Given the description of an element on the screen output the (x, y) to click on. 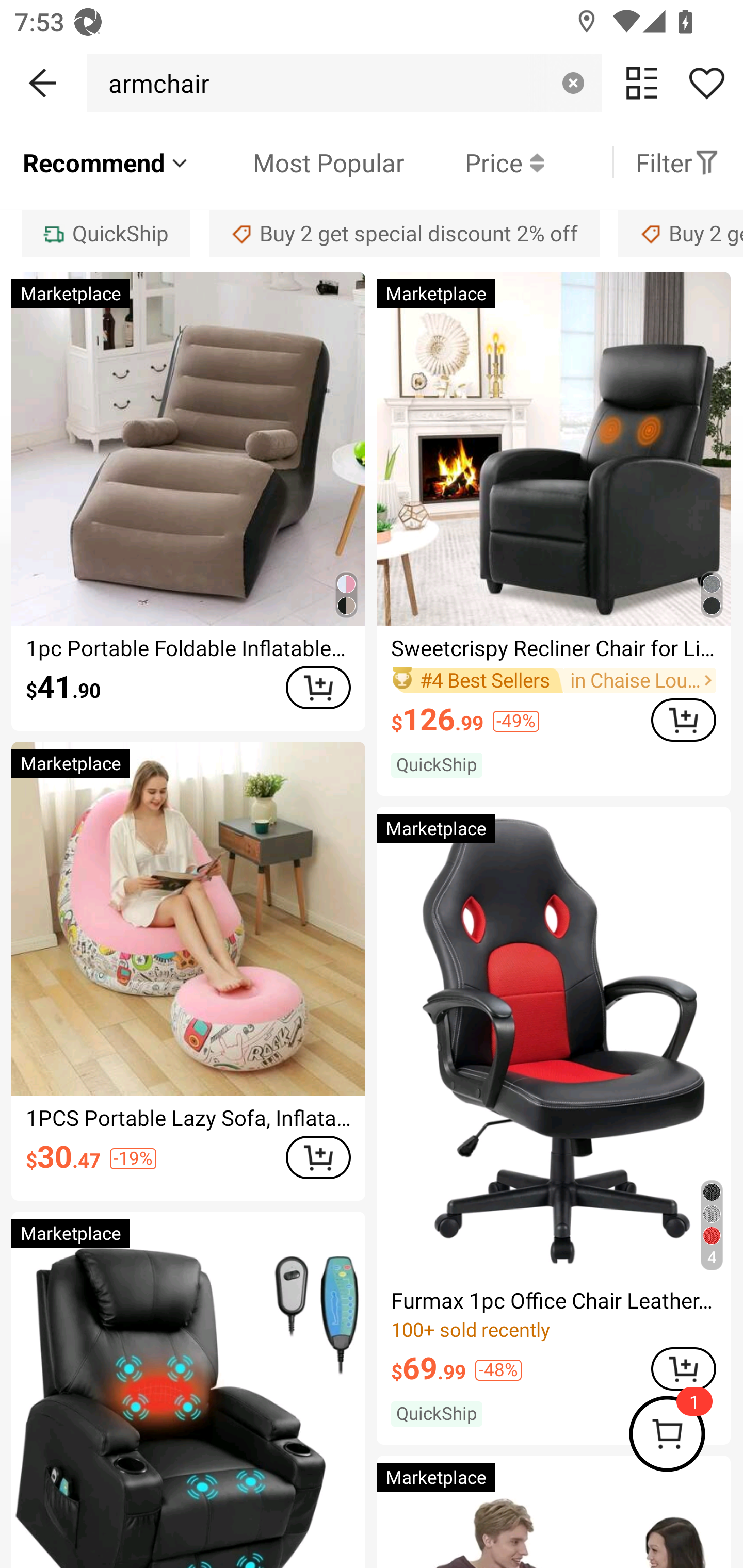
armchair (153, 82)
Clear (572, 82)
change view (641, 82)
Share (706, 82)
Recommend (106, 162)
Most Popular (297, 162)
Price (474, 162)
Filter (677, 162)
QuickShip (105, 233)
Buy 2 get special discount 2% off (403, 233)
Buy 2 get special discount 3% off (680, 233)
ADD TO CART (318, 687)
#4 Best Sellers in Chaise Lounges (553, 680)
ADD TO CART (683, 719)
ADD TO CART (318, 1157)
ADD TO CART (683, 1368)
